Given the description of an element on the screen output the (x, y) to click on. 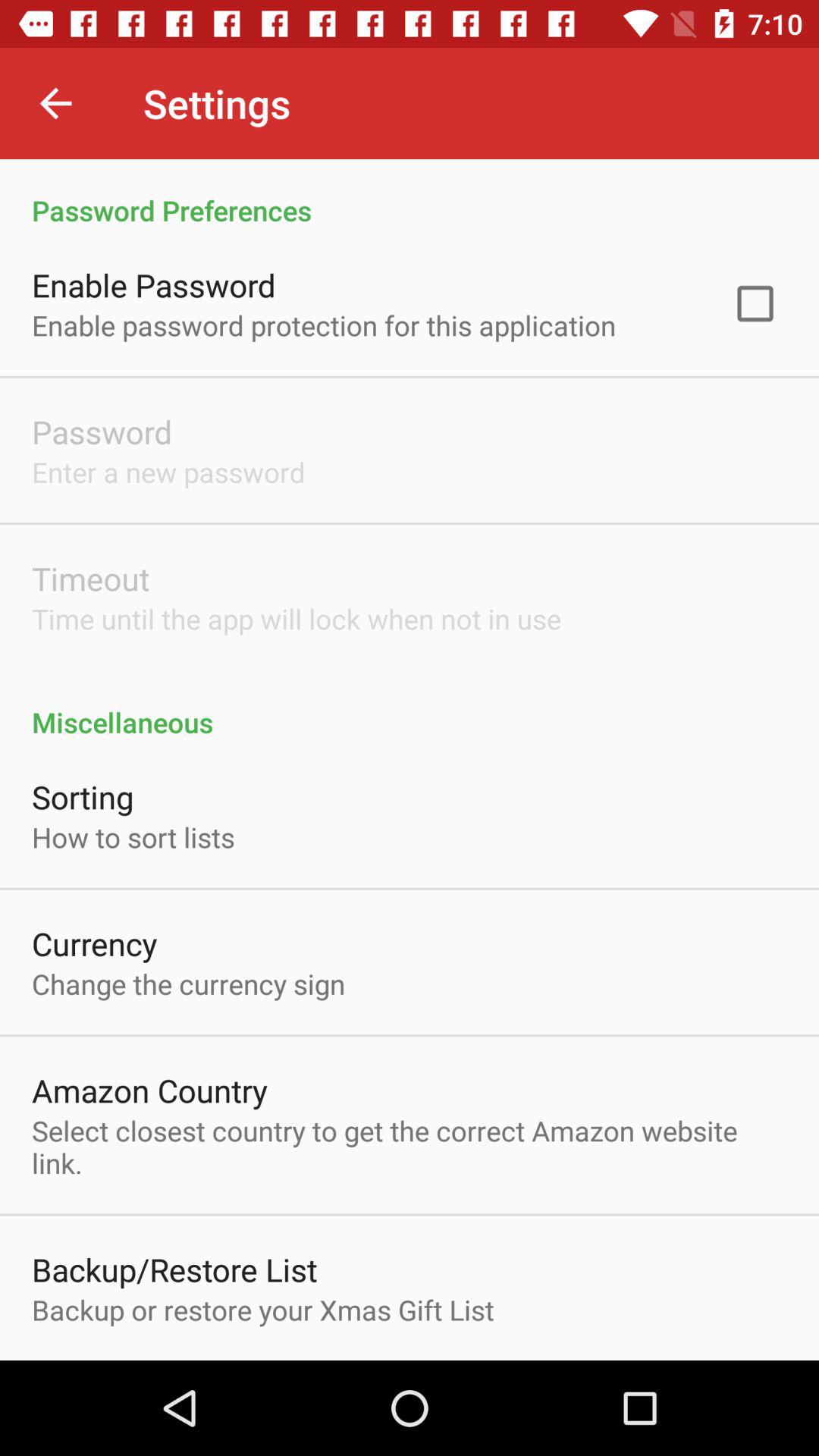
launch time until the icon (296, 618)
